Given the description of an element on the screen output the (x, y) to click on. 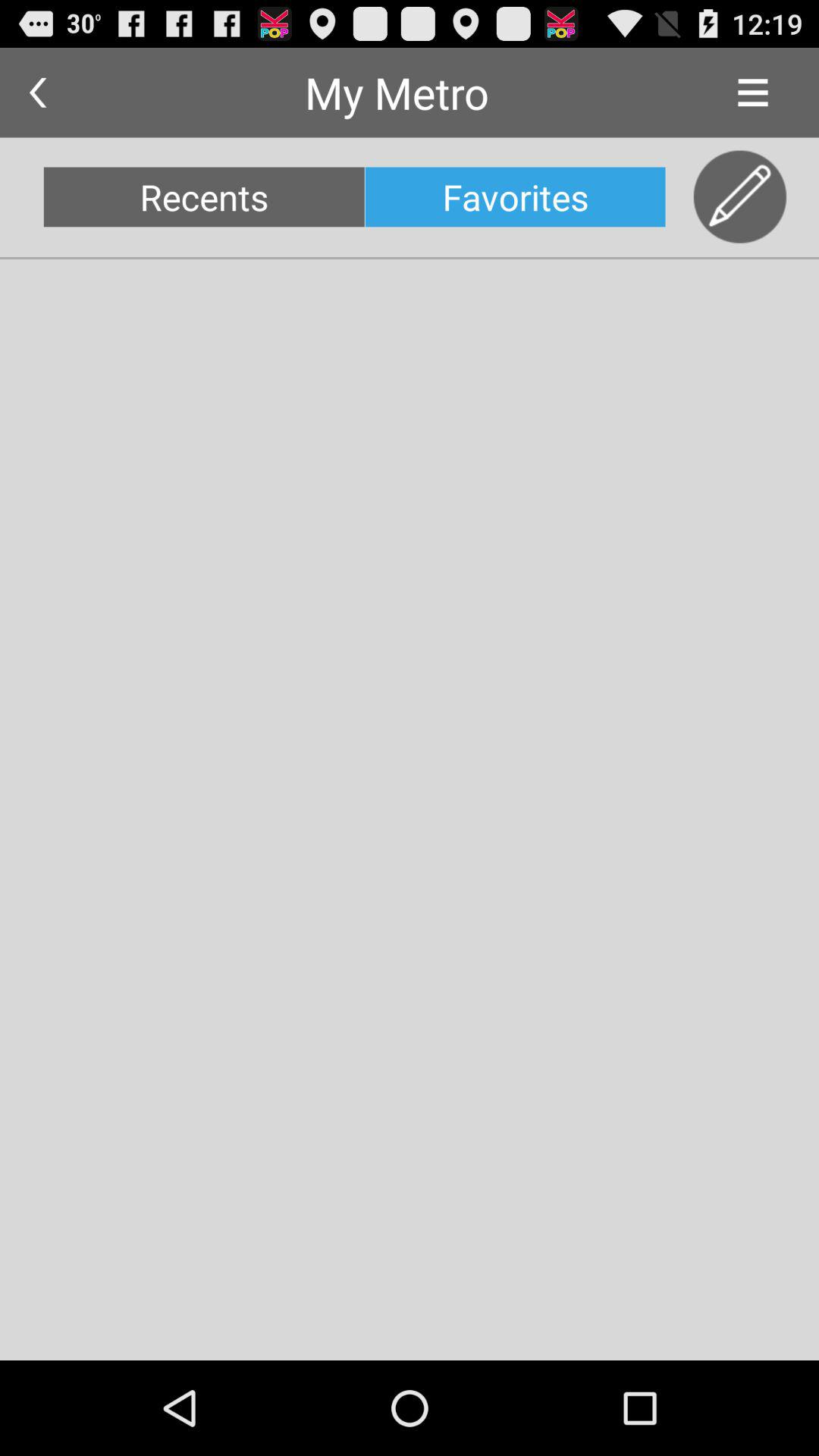
launch item to the right of the recents icon (515, 196)
